Given the description of an element on the screen output the (x, y) to click on. 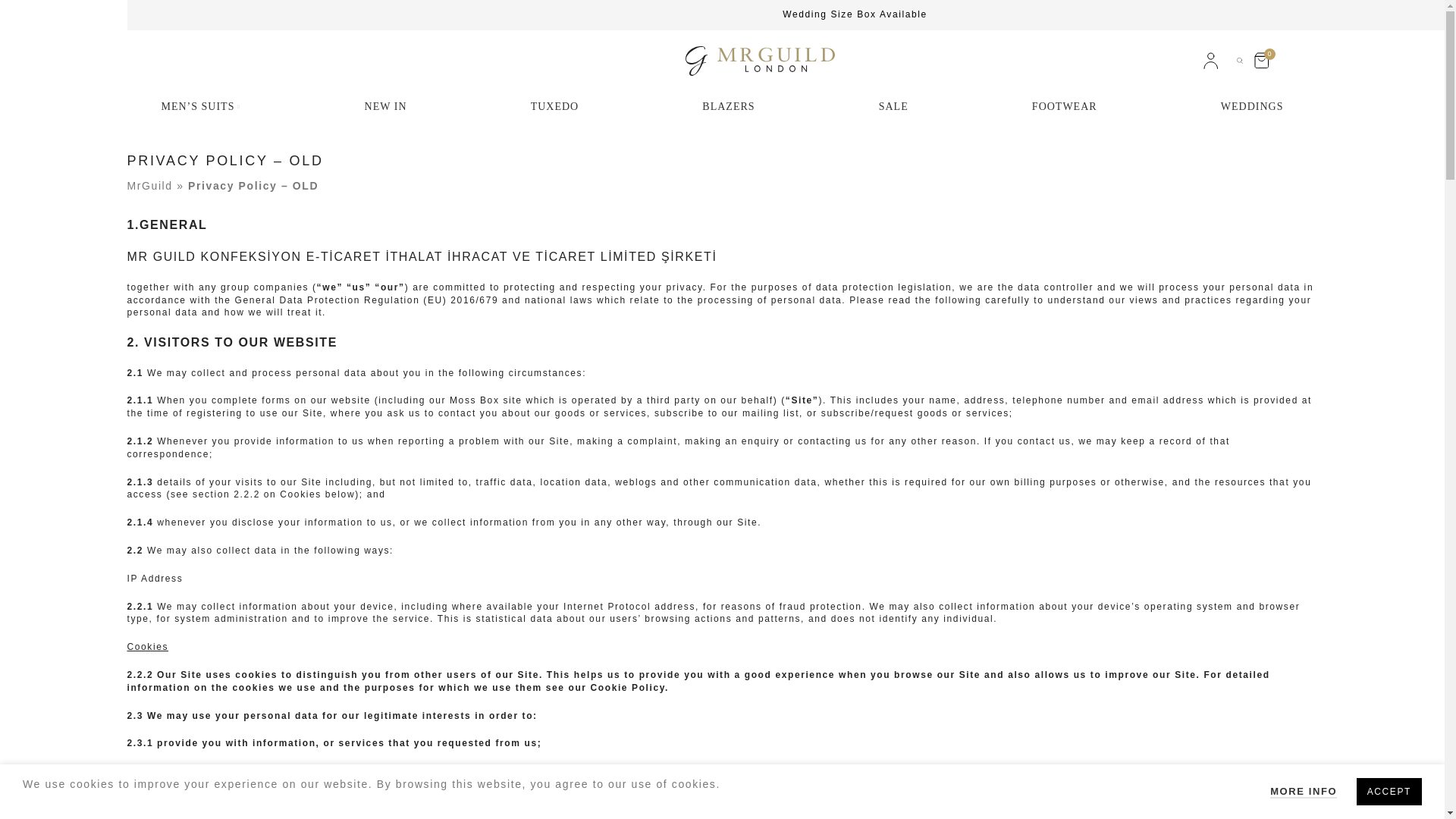
My account (1210, 60)
0 (1261, 60)
Shopping cart (1261, 60)
